Given the description of an element on the screen output the (x, y) to click on. 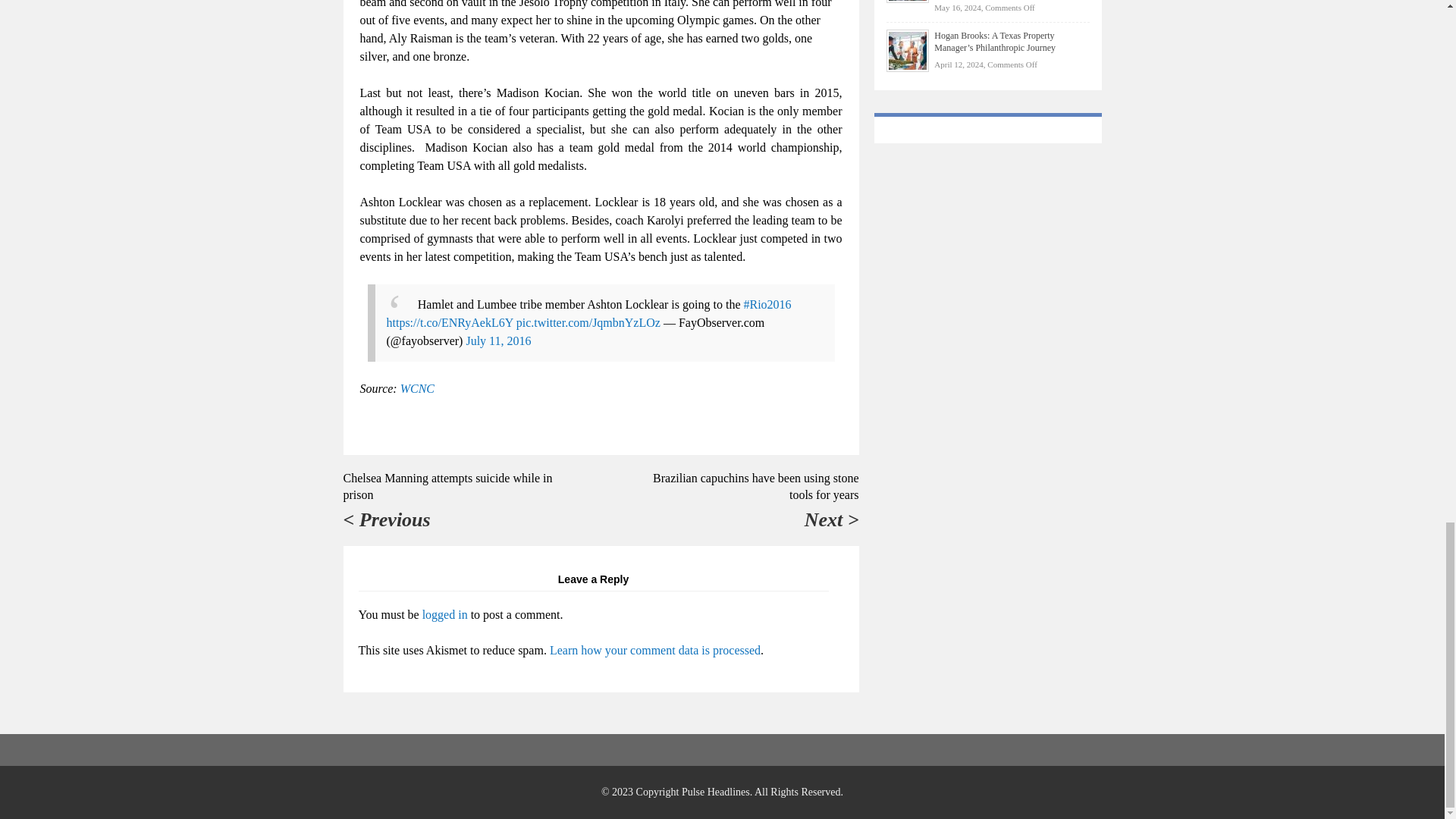
Chelsea Manning attempts suicide while in prison (446, 486)
Brazilian capuchins have been using stone tools for years (755, 486)
WCNC (416, 388)
July 11, 2016 (498, 340)
